Given the description of an element on the screen output the (x, y) to click on. 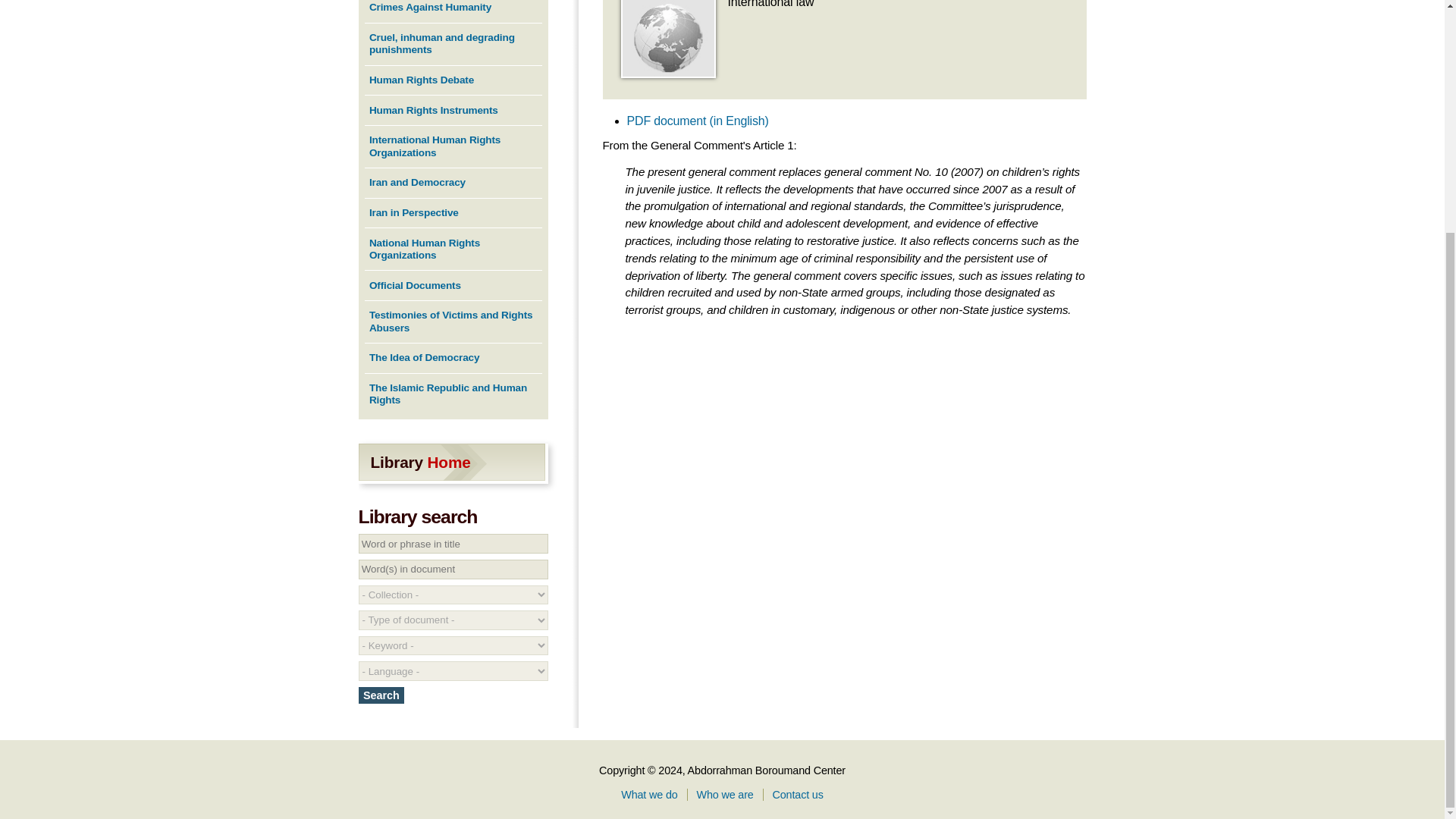
Search (381, 695)
